Given the description of an element on the screen output the (x, y) to click on. 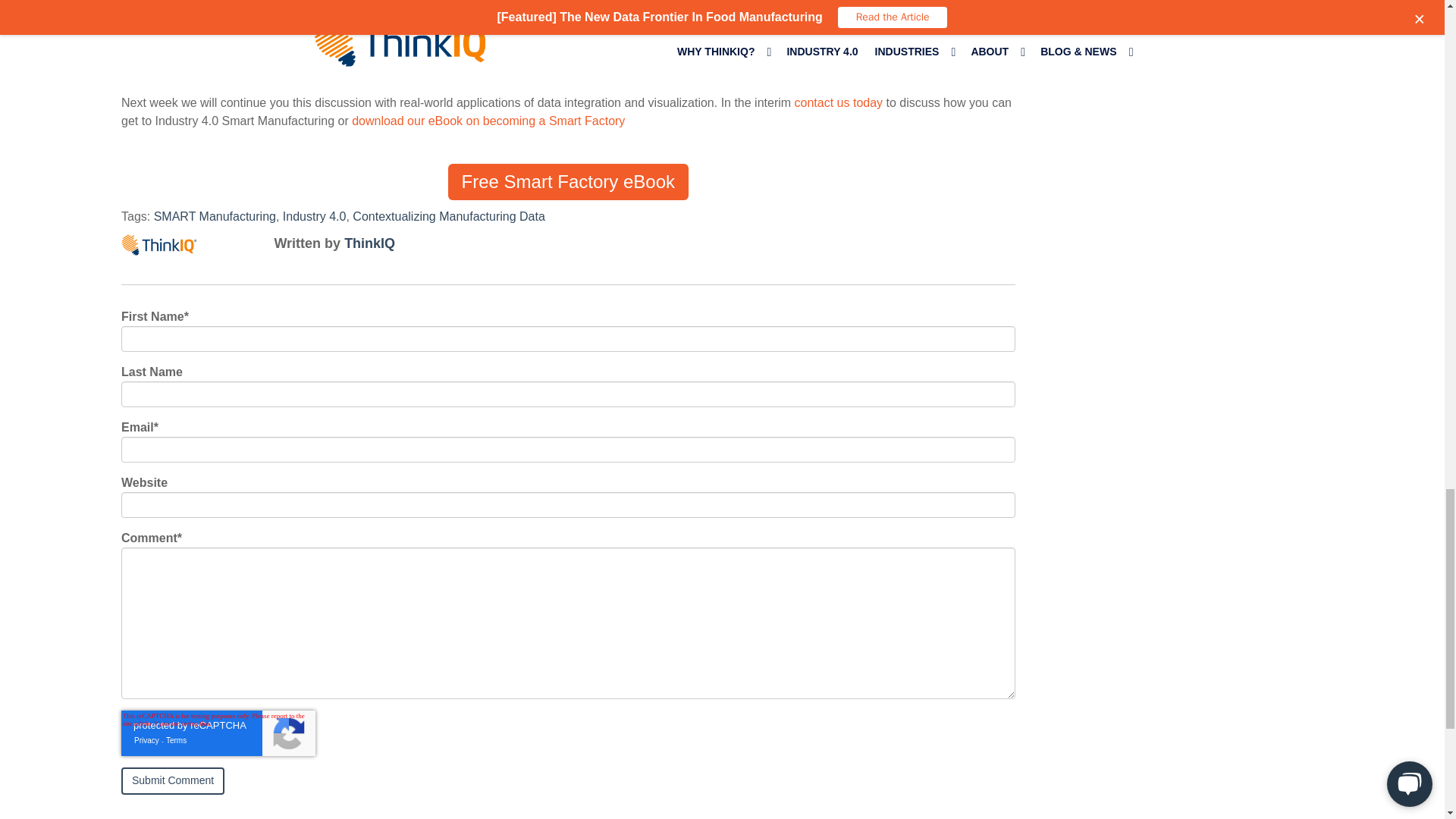
Submit Comment (172, 780)
contact us today (838, 102)
Free Smart Factory eBook (568, 181)
download our eBook on becoming a Smart Factory (488, 120)
Free Smart Factory eBook (568, 181)
Industry 4.0 (314, 215)
SMART Manufacturing (215, 215)
ThinkIQ (368, 242)
Contextualizing Manufacturing Data (448, 215)
reCAPTCHA (217, 732)
Submit Comment (172, 780)
